Given the description of an element on the screen output the (x, y) to click on. 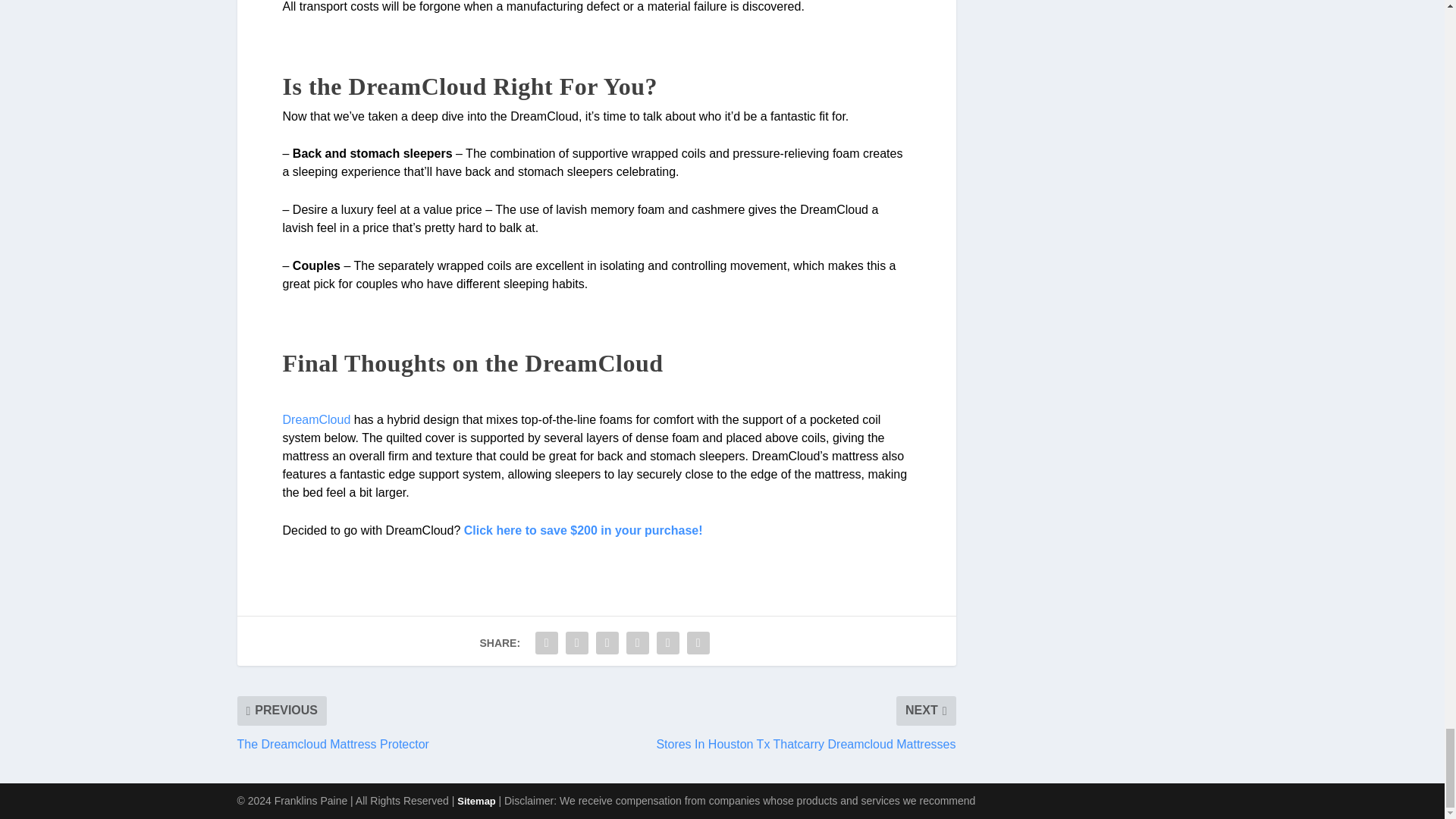
Share "Heavenly Mattress vs Dreamcloud" via LinkedIn (697, 643)
Share "Heavenly Mattress vs Dreamcloud" via Tumblr (637, 643)
Sitemap (477, 800)
Share "Heavenly Mattress vs Dreamcloud" via Facebook (546, 643)
Share "Heavenly Mattress vs Dreamcloud" via Pinterest (667, 643)
DreamCloud (316, 419)
Share "Heavenly Mattress vs Dreamcloud" via Twitter (577, 643)
